Given the description of an element on the screen output the (x, y) to click on. 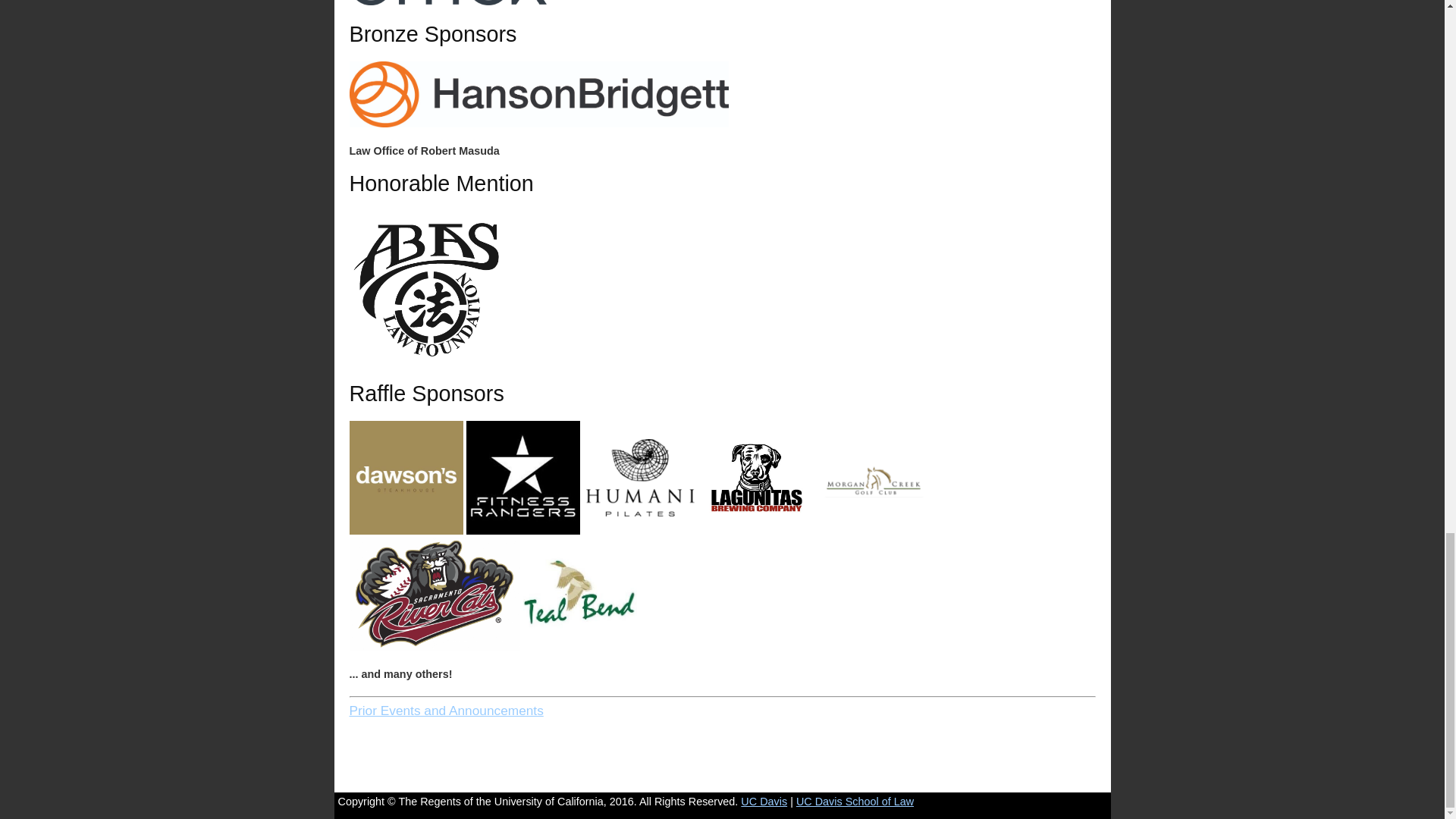
Link to Hanson Bridgett LLP website (538, 123)
UC Davis School of Law (855, 801)
Prior Events and Announcements (446, 710)
Link to Orrick website (462, 3)
UC Davis (764, 801)
